Given the description of an element on the screen output the (x, y) to click on. 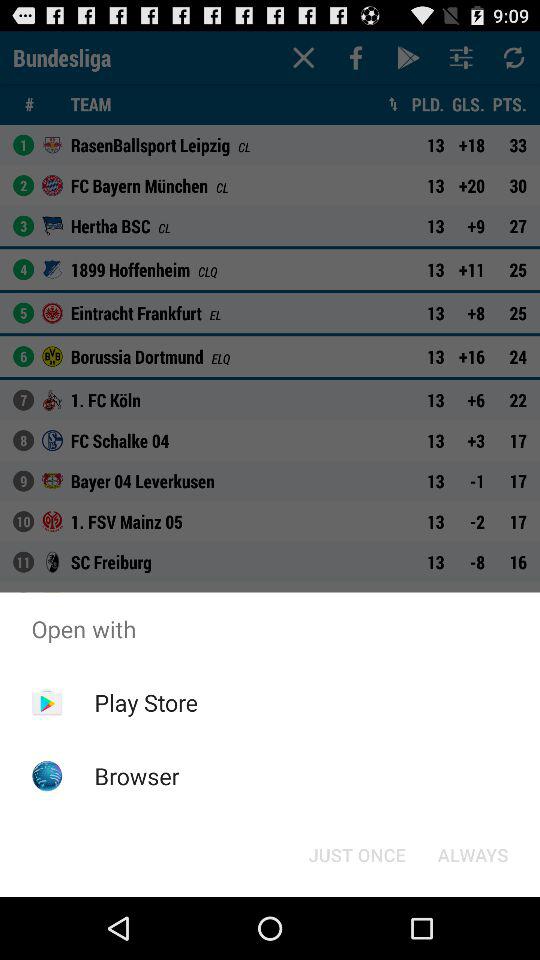
press the always icon (472, 854)
